Given the description of an element on the screen output the (x, y) to click on. 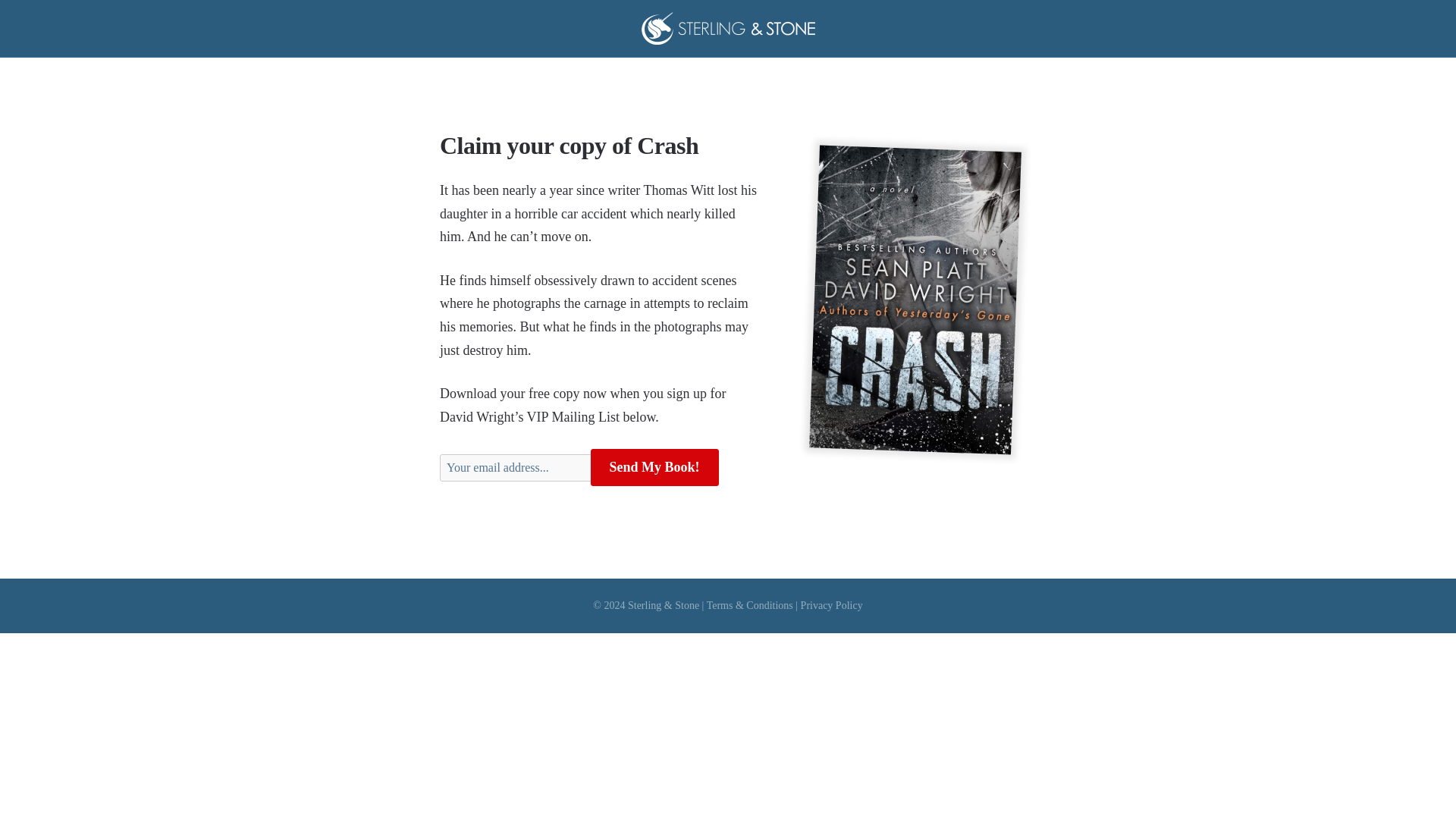
Send My Book! (653, 467)
Privacy Policy (831, 604)
